Given the description of an element on the screen output the (x, y) to click on. 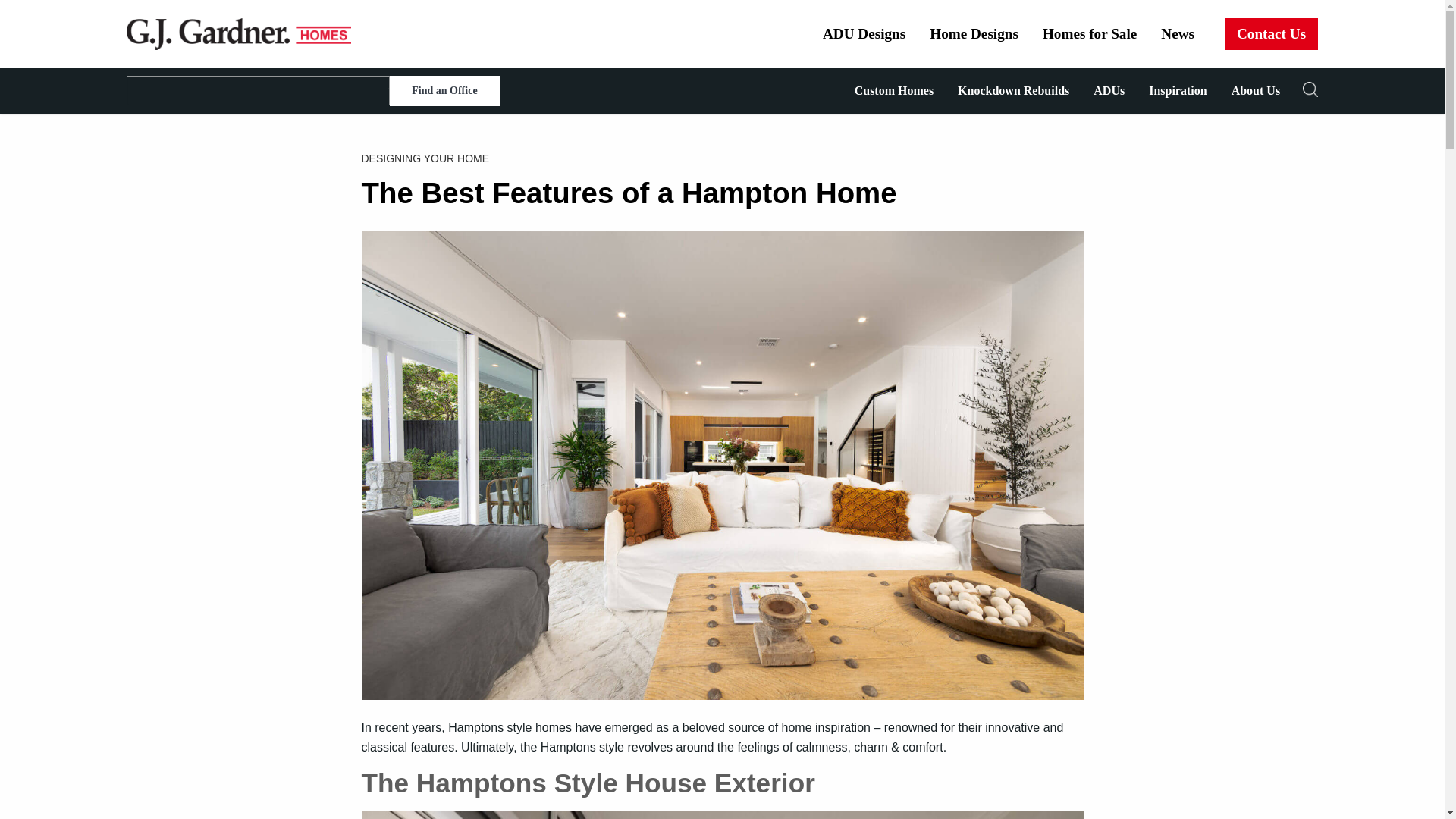
Find an Office (444, 91)
Contact Us (1270, 33)
Custom Homes (893, 90)
ADUs (1109, 90)
Find an Office (444, 91)
Inspiration (1177, 90)
News (1177, 33)
Homes for Sale (1089, 33)
About Us (1256, 90)
DESIGNING YOUR HOME (722, 158)
ADU Designs (863, 33)
Home Designs (973, 33)
Knockdown Rebuilds (1012, 90)
